Given the description of an element on the screen output the (x, y) to click on. 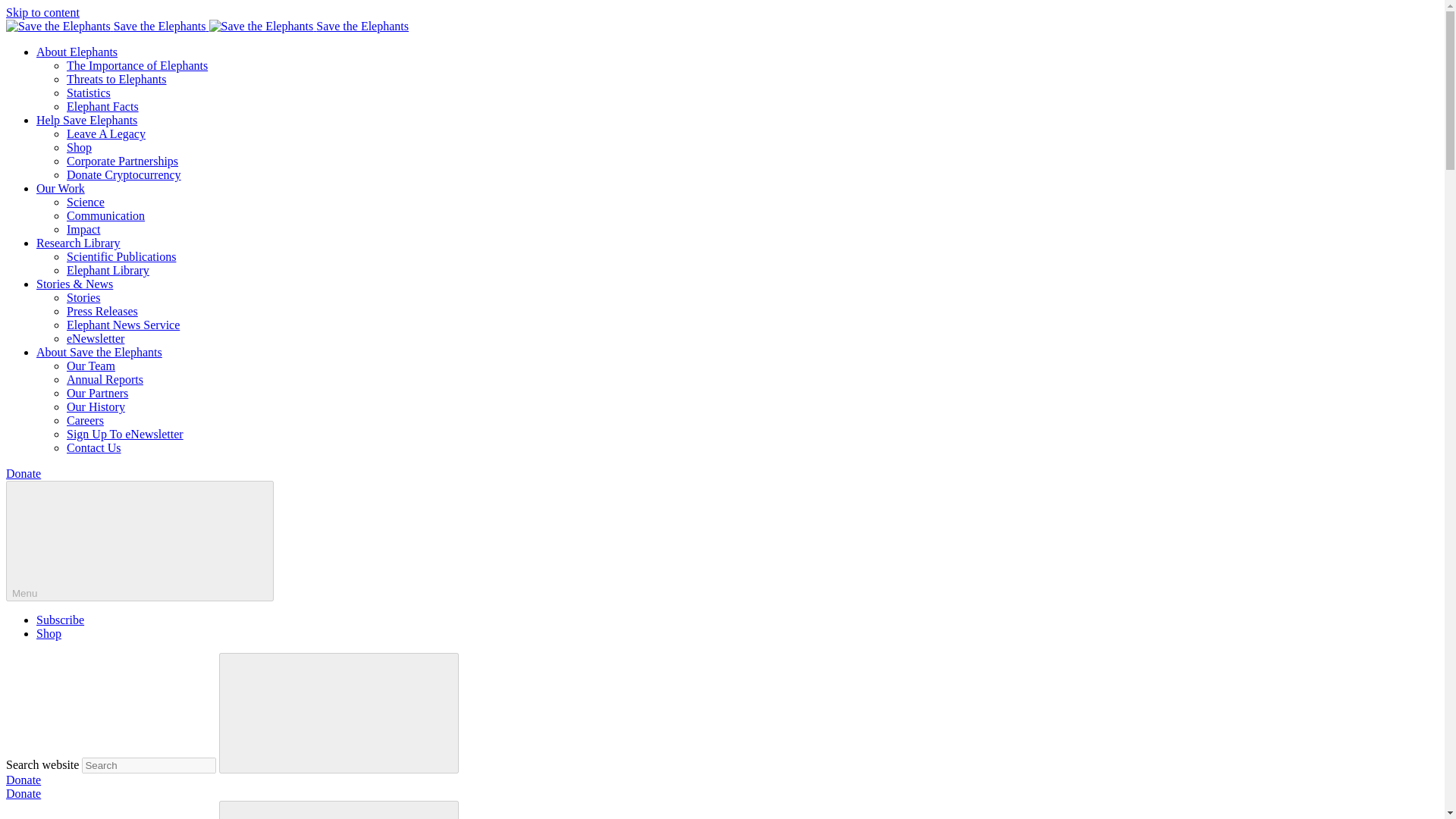
Research Library (78, 242)
Save the Elephants (107, 25)
Press Releases (102, 310)
The Importance of Elephants (137, 65)
Donate (22, 793)
Scientific Publications (121, 256)
Donate (22, 779)
Threats to Elephants (116, 78)
Impact (83, 228)
Search submit (338, 712)
